Given the description of an element on the screen output the (x, y) to click on. 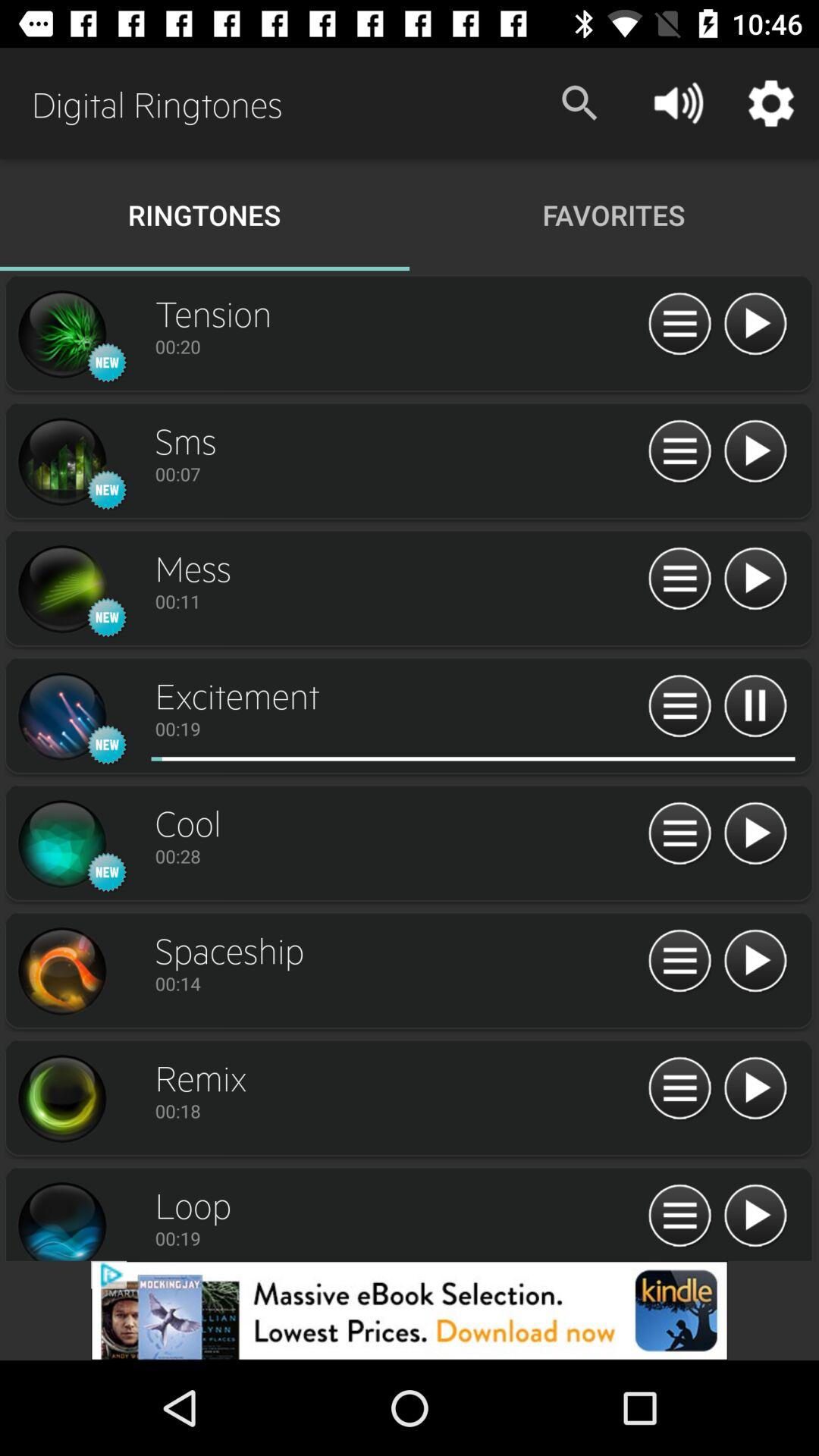
menu icon (679, 1216)
